Given the description of an element on the screen output the (x, y) to click on. 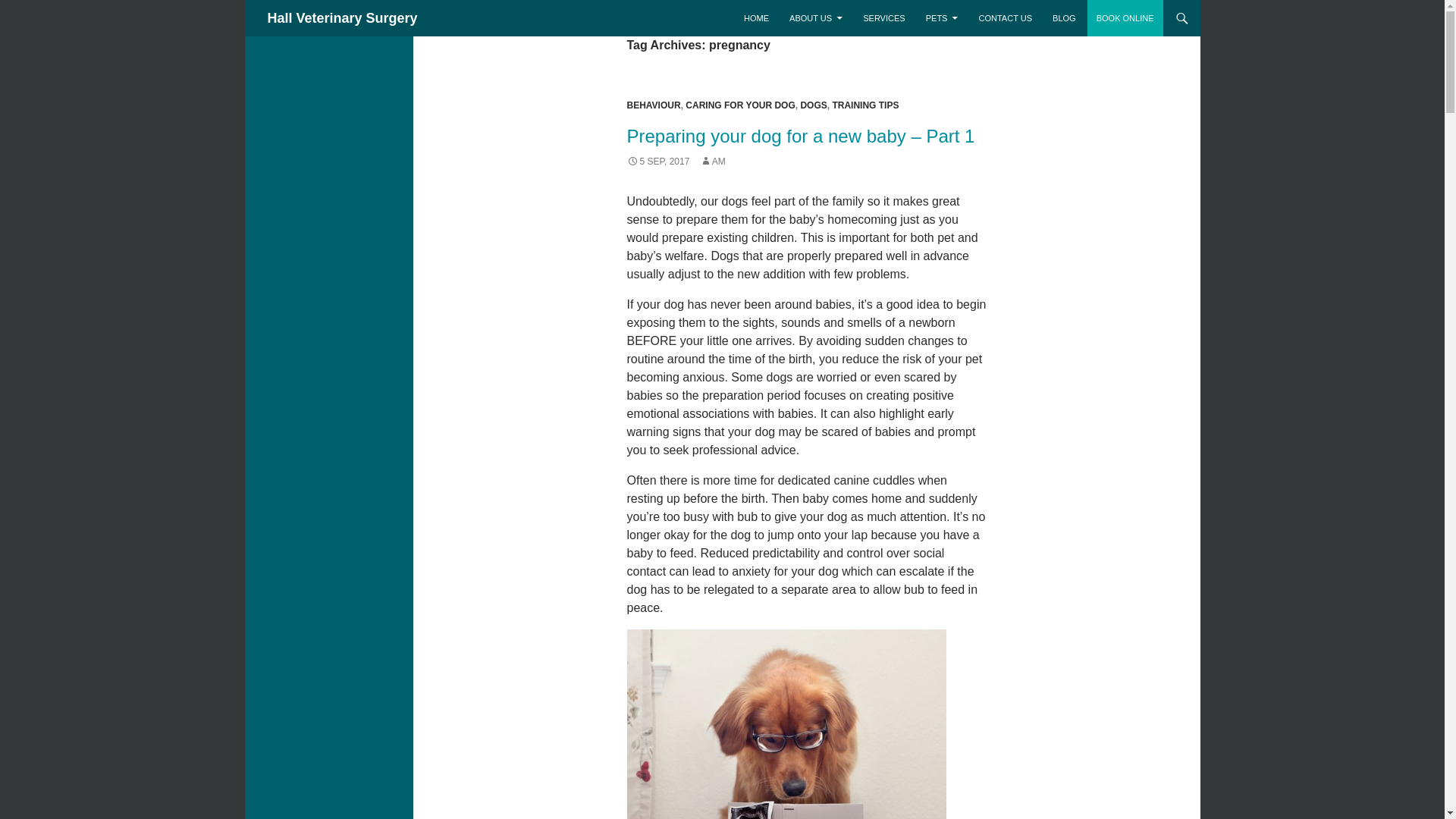
CONTACT US (1005, 18)
DOGS (813, 104)
ABOUT US (815, 18)
SERVICES (883, 18)
BEHAVIOUR (652, 104)
HOME (756, 18)
BLOG (1063, 18)
AM (712, 161)
Hall Veterinary Surgery (341, 18)
TRAINING TIPS (864, 104)
CARING FOR YOUR DOG (739, 104)
PETS (942, 18)
BOOK ONLINE (1125, 18)
5 SEP, 2017 (657, 161)
